Given the description of an element on the screen output the (x, y) to click on. 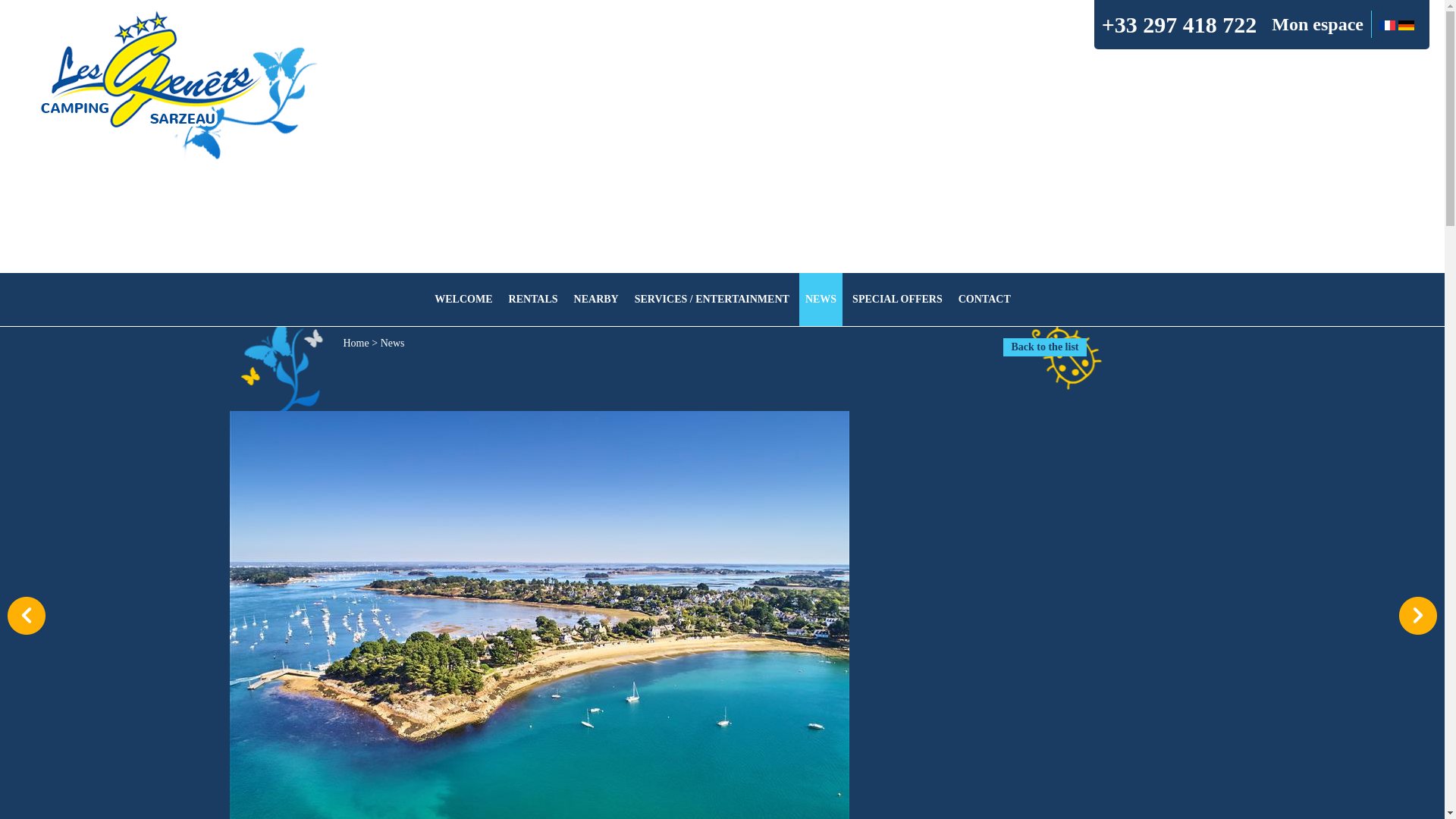
RENTALS (533, 298)
Tourism and leisure around Sarzeau (595, 298)
Mon espace (1316, 24)
Deutsch Version (1405, 23)
WELCOME (462, 298)
NEARBY (595, 298)
